Given the description of an element on the screen output the (x, y) to click on. 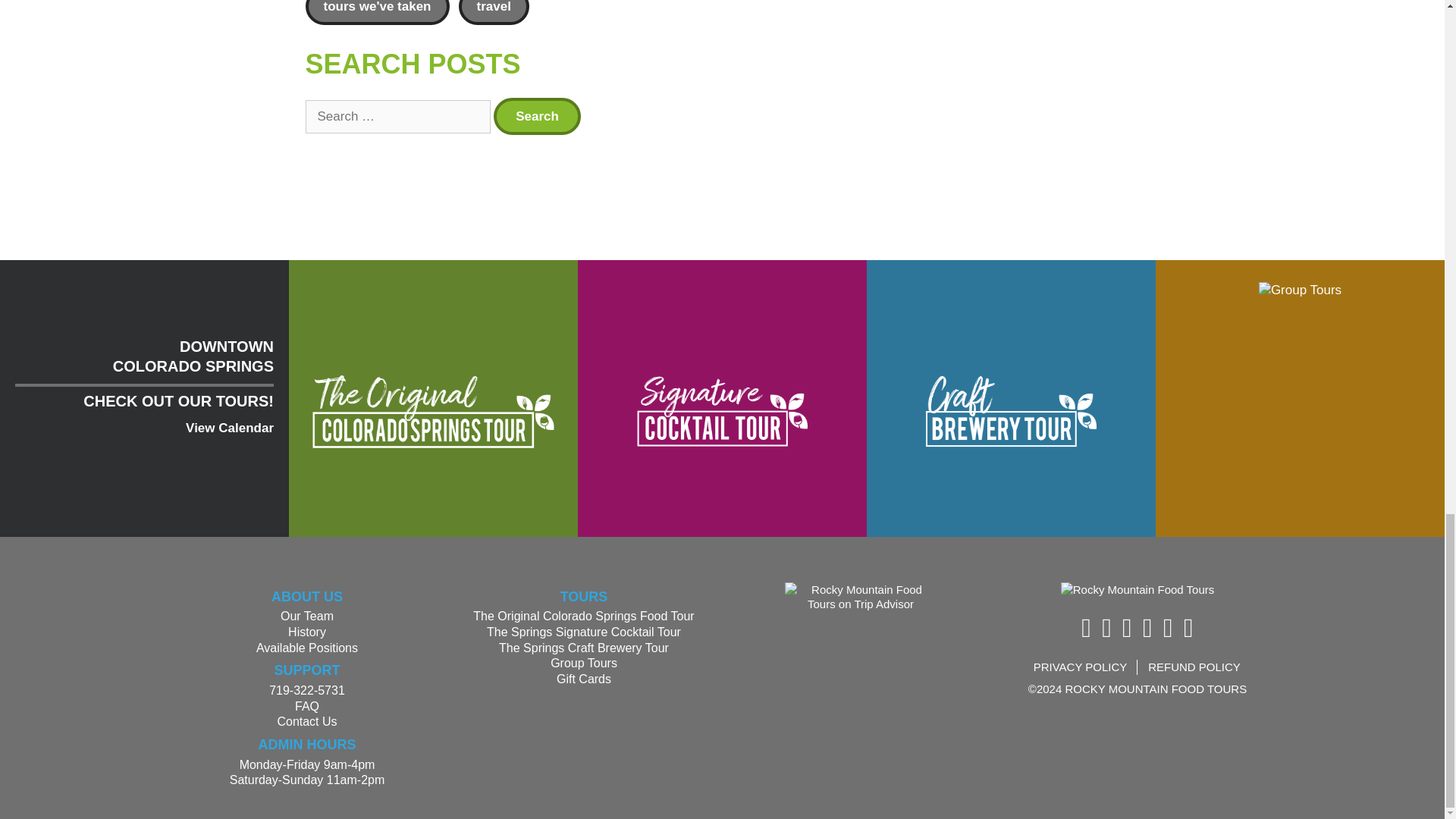
The Springs Signature Cocktail Tour (721, 410)
Search for: (396, 116)
Our Team (307, 615)
The Springs Craft Brewery Tour (1011, 410)
Search (536, 116)
Search (536, 116)
tours we've taken (376, 12)
History (307, 631)
The Original Colorado Springs Food Tour (433, 410)
Available Positions (307, 647)
Group Tours (1299, 289)
Rocky Mountain Food Tours (1137, 589)
View Calendar (229, 427)
Search (536, 116)
travel (493, 12)
